Given the description of an element on the screen output the (x, y) to click on. 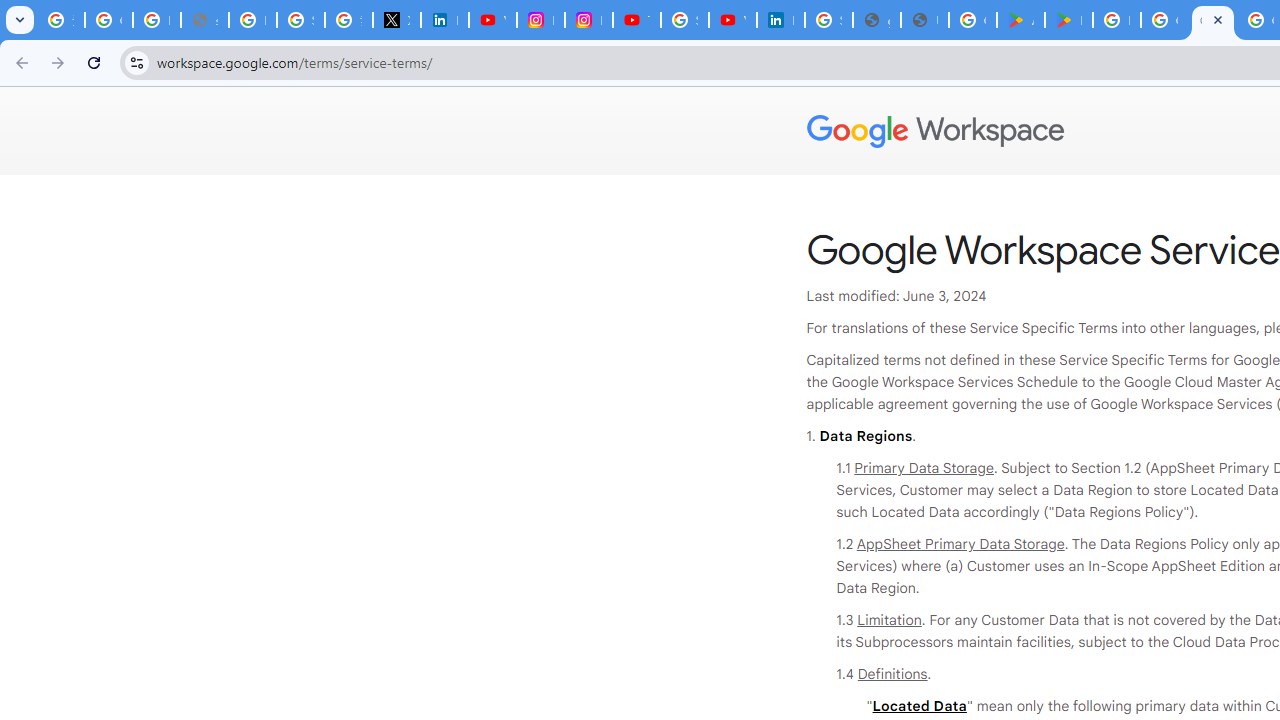
LinkedIn Privacy Policy (444, 20)
PAW Patrol Rescue World - Apps on Google Play (1068, 20)
google_privacy_policy_en.pdf (876, 20)
Sign in - Google Accounts (828, 20)
Android Apps on Google Play (1020, 20)
Identity verification via Persona | LinkedIn Help (780, 20)
X (396, 20)
